Given the description of an element on the screen output the (x, y) to click on. 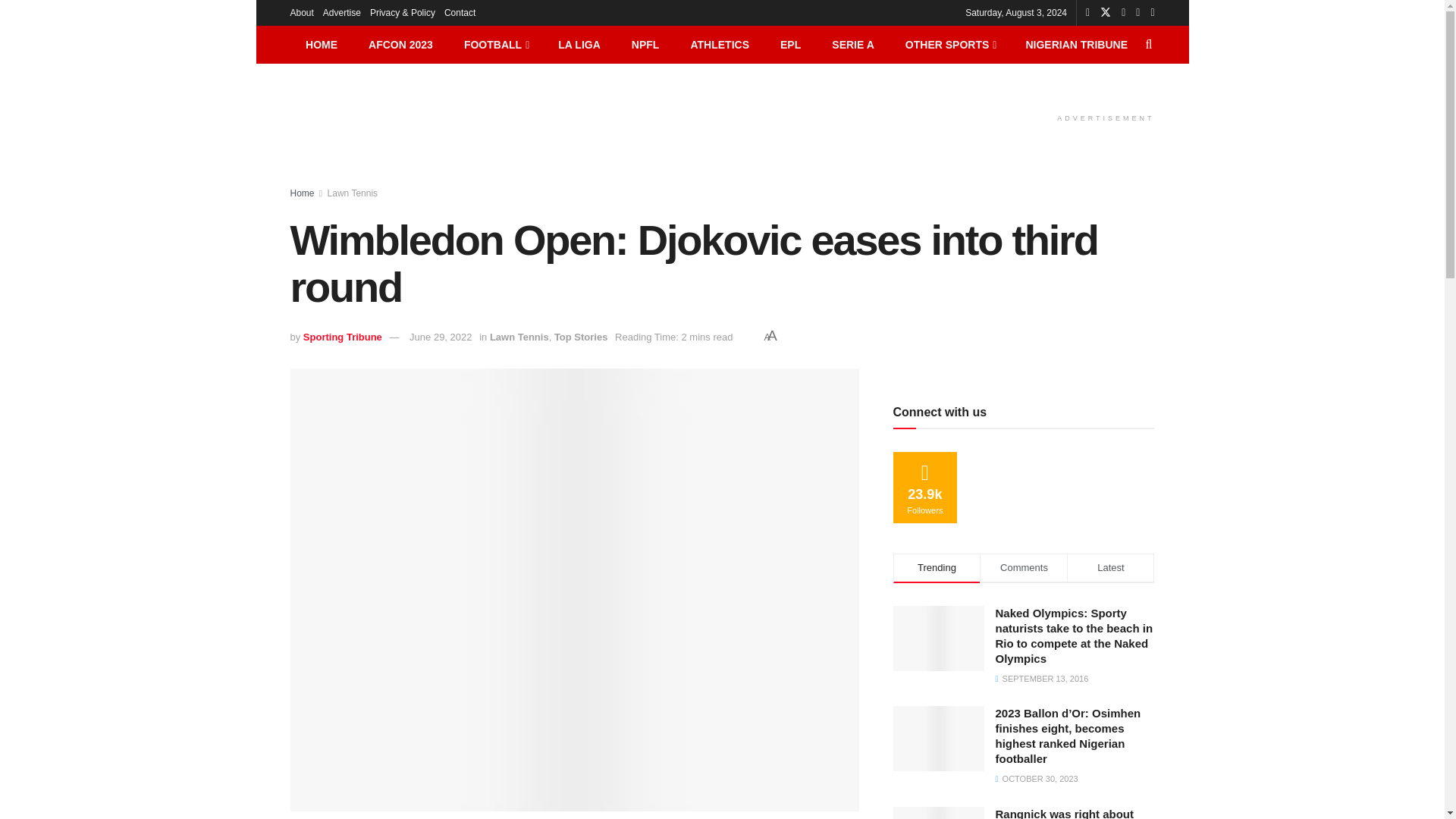
FOOTBALL (494, 44)
ATHLETICS (720, 44)
Contact (460, 12)
EPL (789, 44)
About (301, 12)
Advertise (342, 12)
SERIE A (852, 44)
NPFL (645, 44)
NIGERIAN TRIBUNE (1076, 44)
OTHER SPORTS (949, 44)
LA LIGA (579, 44)
HOME (320, 44)
AFCON 2023 (400, 44)
